Given the description of an element on the screen output the (x, y) to click on. 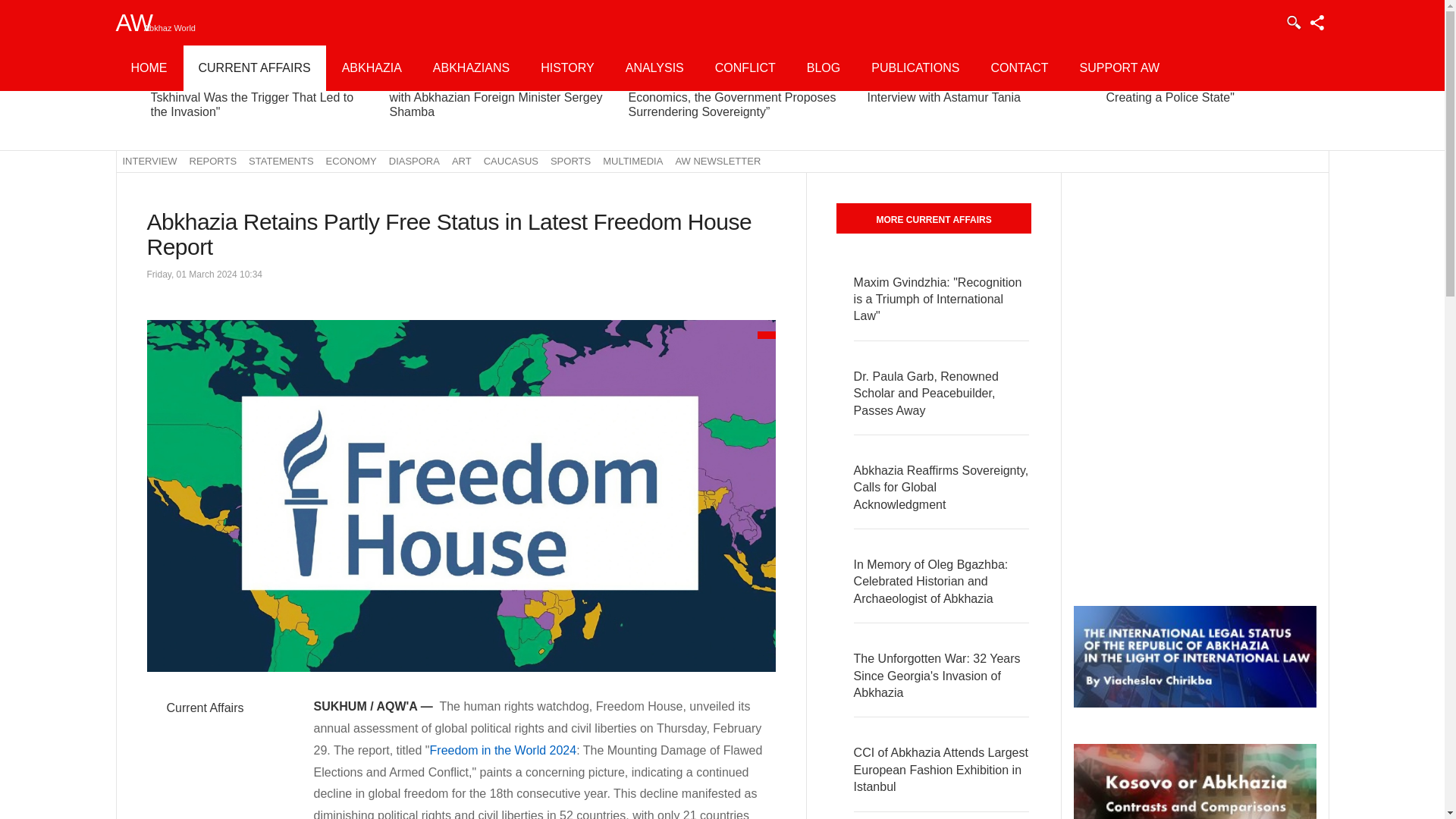
BLOG (824, 67)
ANALYSIS (654, 67)
Said Gezerdaa: "This is the Path to Creating a Police State" (1199, 90)
CONTACT (1018, 67)
SUPPORT AW (1119, 67)
